Given the description of an element on the screen output the (x, y) to click on. 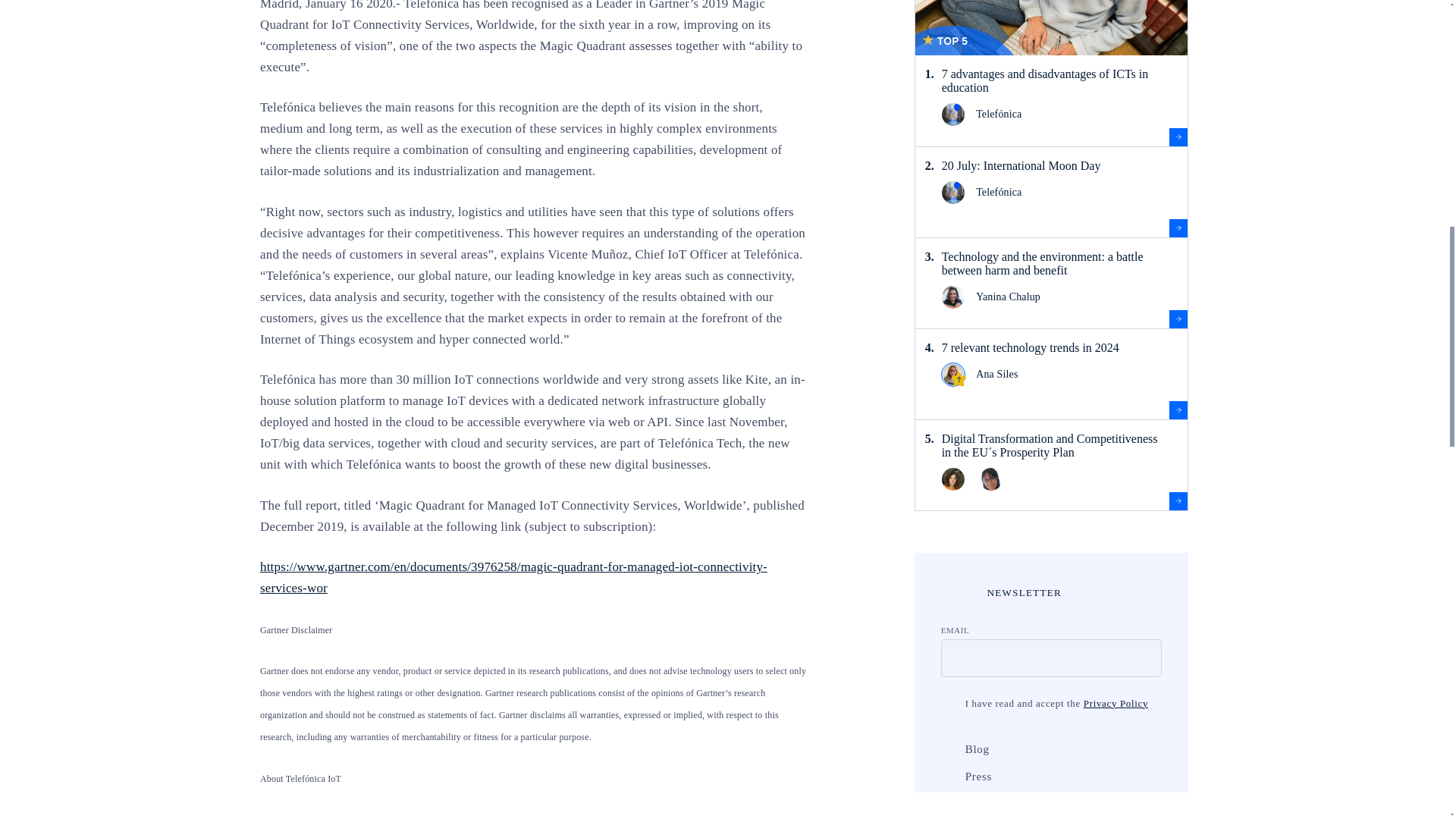
on (948, 703)
Press (948, 776)
Public policy (948, 803)
Blog (948, 749)
